Given the description of an element on the screen output the (x, y) to click on. 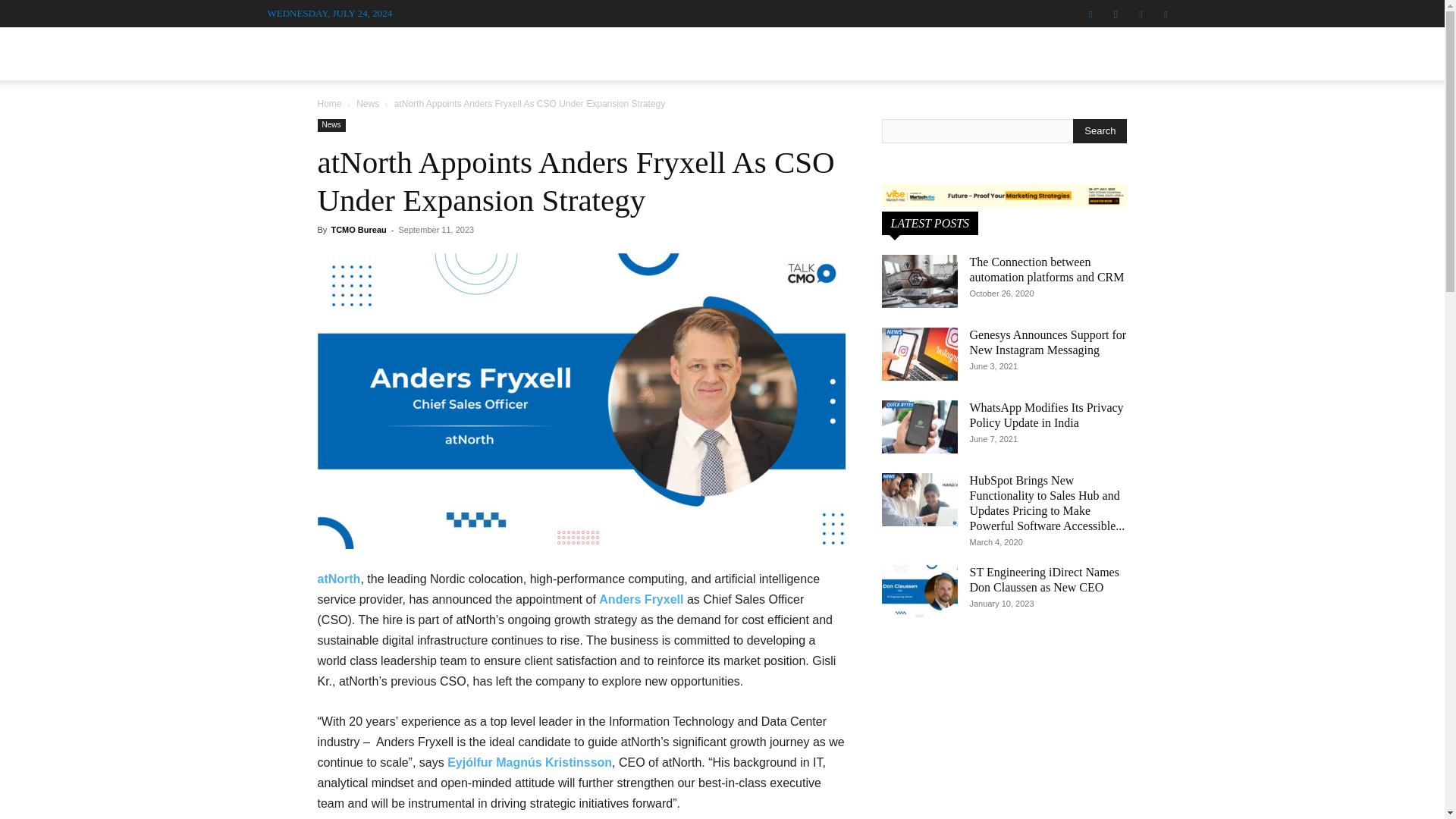
INSIGHTS (981, 53)
View all posts in News (367, 103)
Search (1099, 130)
Search (1134, 129)
PODCASTS (710, 53)
QUICK BYTES (889, 53)
INTERVIEWS (604, 53)
ARTICLES (793, 53)
